Given the description of an element on the screen output the (x, y) to click on. 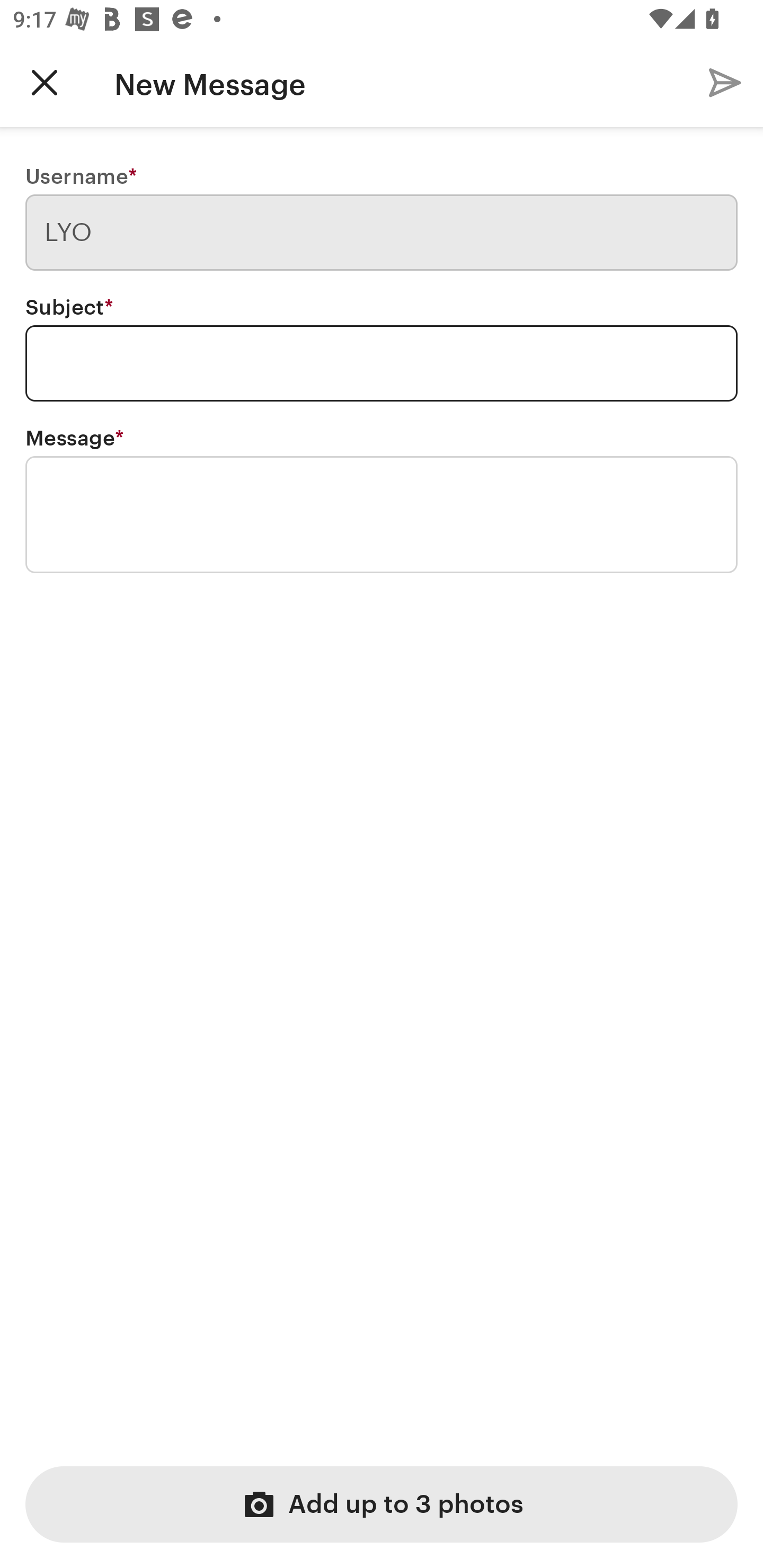
Close (44, 82)
Send (724, 81)
LYO (381, 232)
Add up to 3 photos (381, 1504)
